Given the description of an element on the screen output the (x, y) to click on. 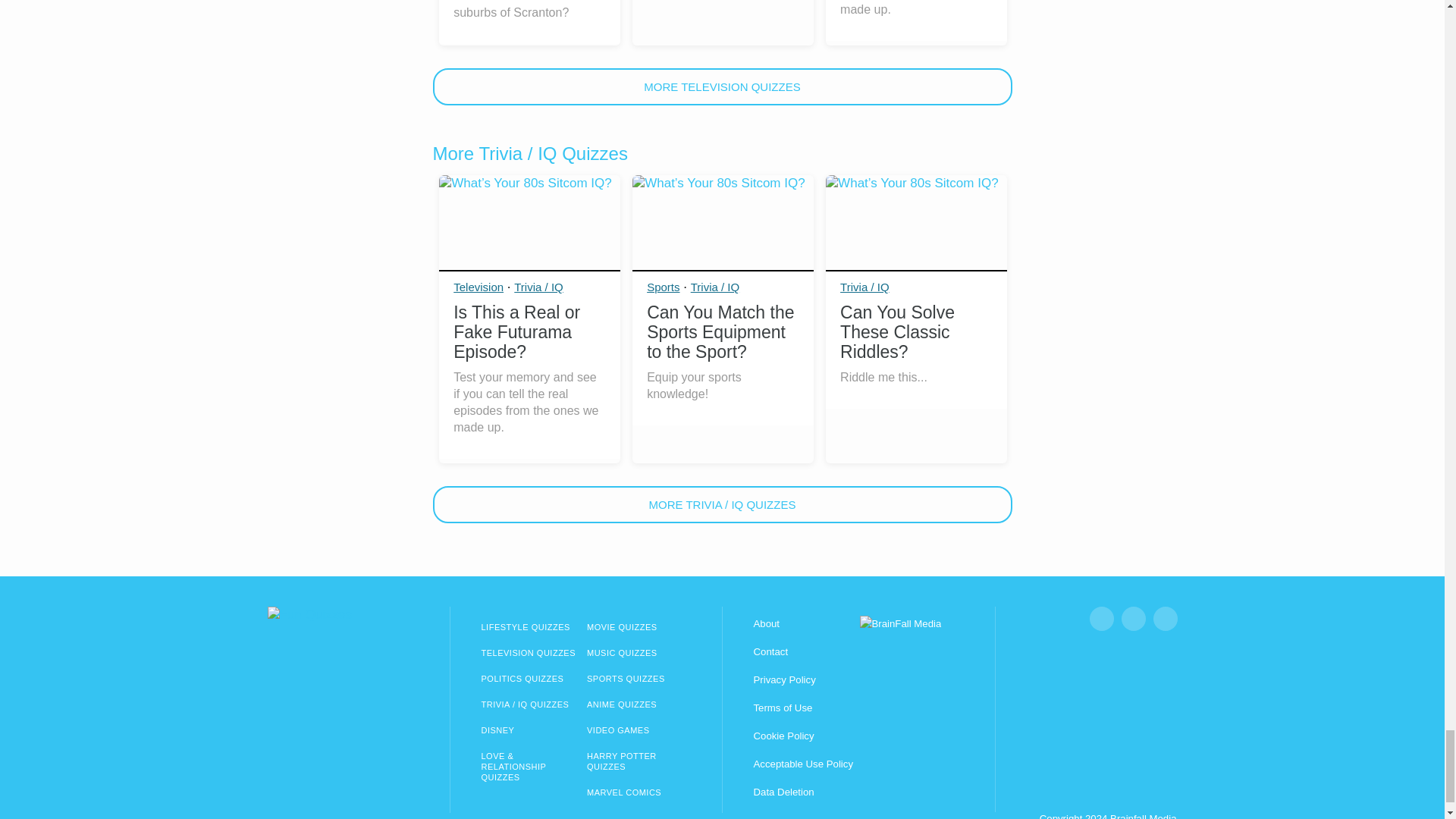
Follow us on Instagram! (1132, 618)
Like us on Facebook! (1101, 618)
Follow us on Twitter! (1164, 618)
